Given the description of an element on the screen output the (x, y) to click on. 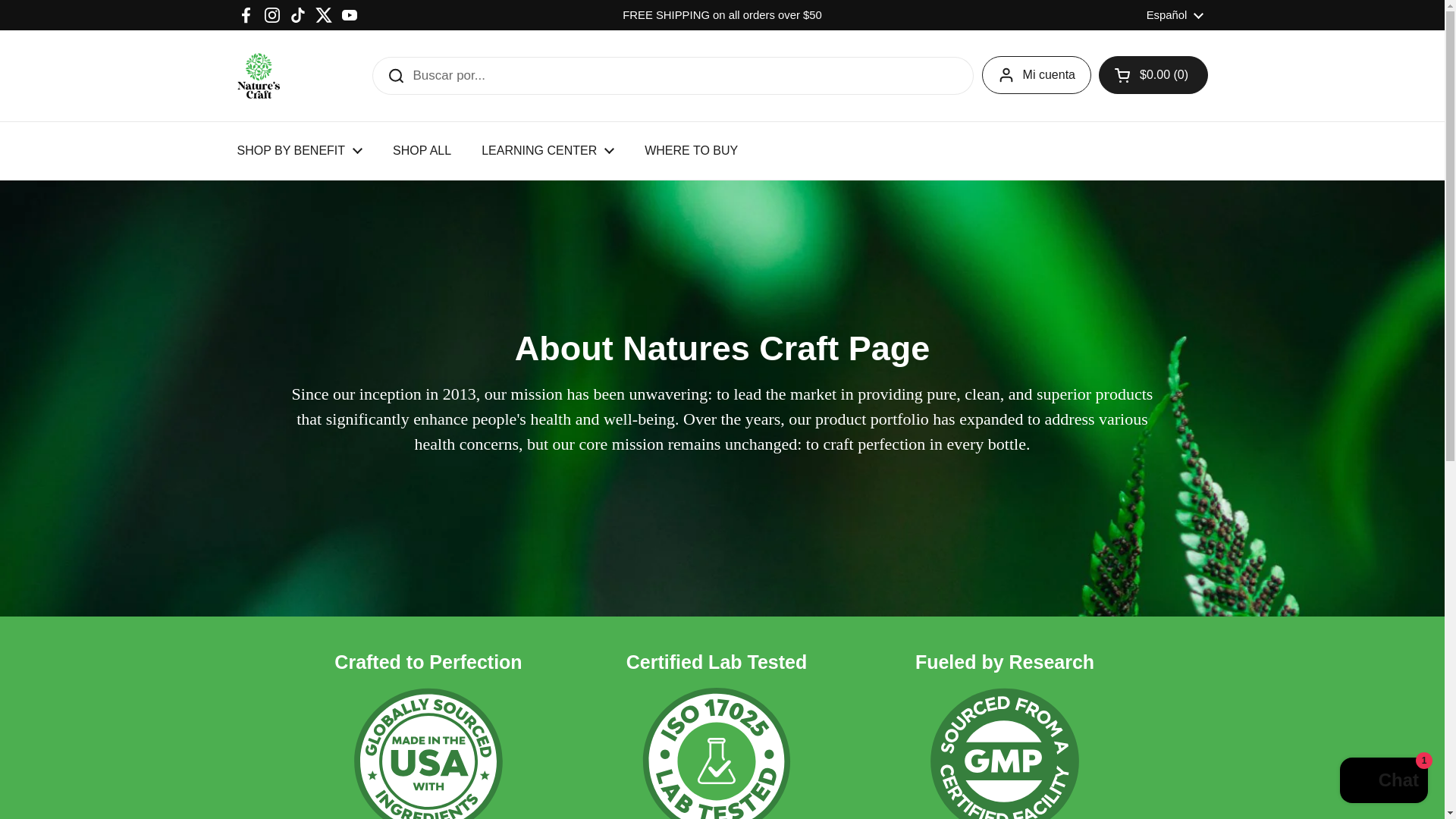
SHOP ALL (421, 150)
SHOP ALL (421, 150)
YouTube (348, 14)
TikTok (296, 14)
Twitter (322, 14)
LEARNING CENTER (546, 150)
Abrir carrito (1153, 75)
Facebook (244, 14)
SHOP BY BENEFIT (299, 150)
Instagram (271, 14)
SHOP BY BENEFIT (299, 150)
Mi cuenta (1035, 75)
WHERE TO BUY (690, 150)
Nature's Craft (257, 75)
